Given the description of an element on the screen output the (x, y) to click on. 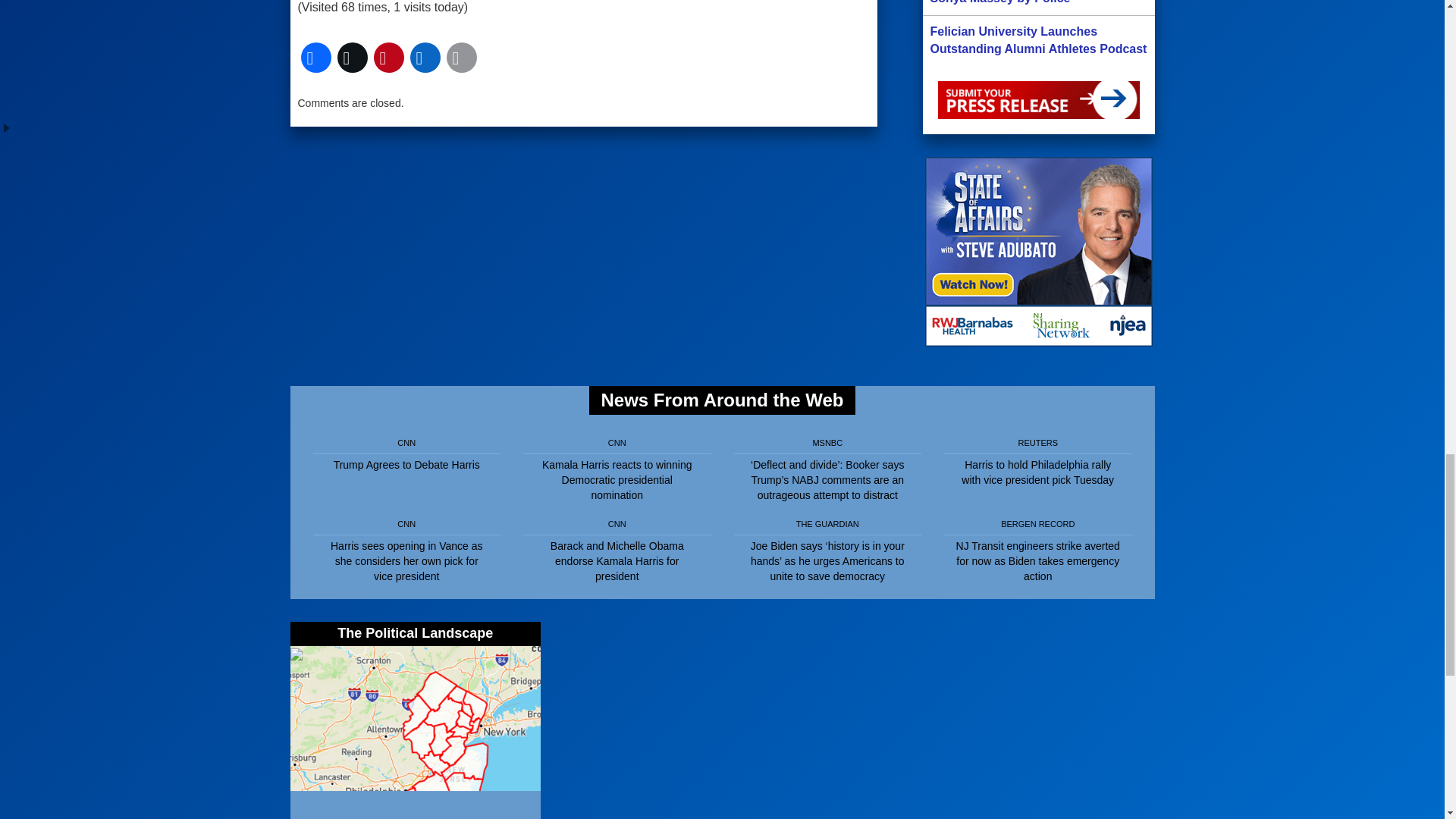
Pinterest (387, 57)
Facebook (315, 57)
LinkedIn (424, 57)
Email This (460, 57)
